Given the description of an element on the screen output the (x, y) to click on. 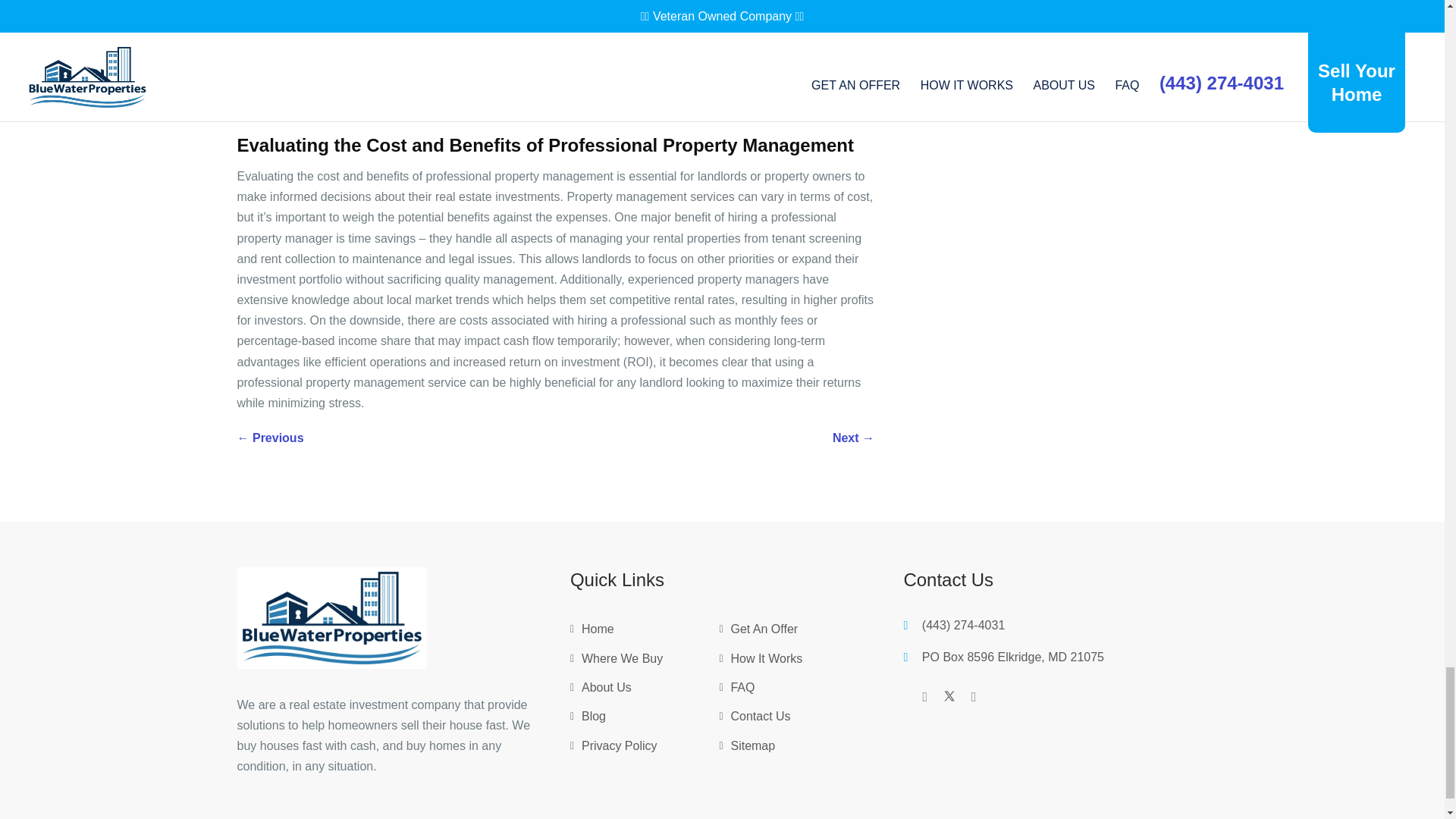
Home (597, 631)
About Us (605, 690)
How It Works (766, 661)
Get An Offer (763, 631)
Where We Buy (621, 661)
